Given the description of an element on the screen output the (x, y) to click on. 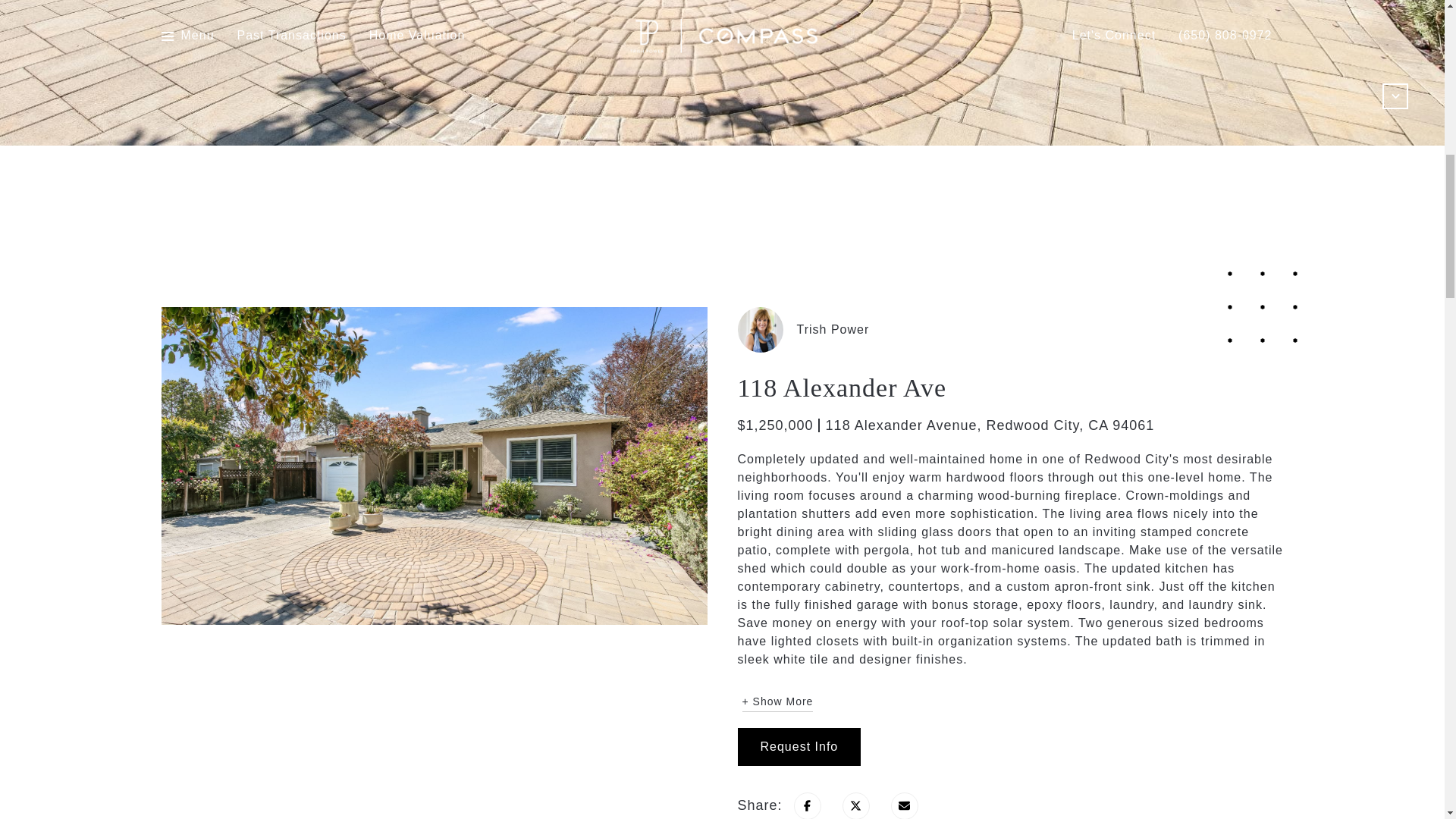
Request Info (798, 746)
